Given the description of an element on the screen output the (x, y) to click on. 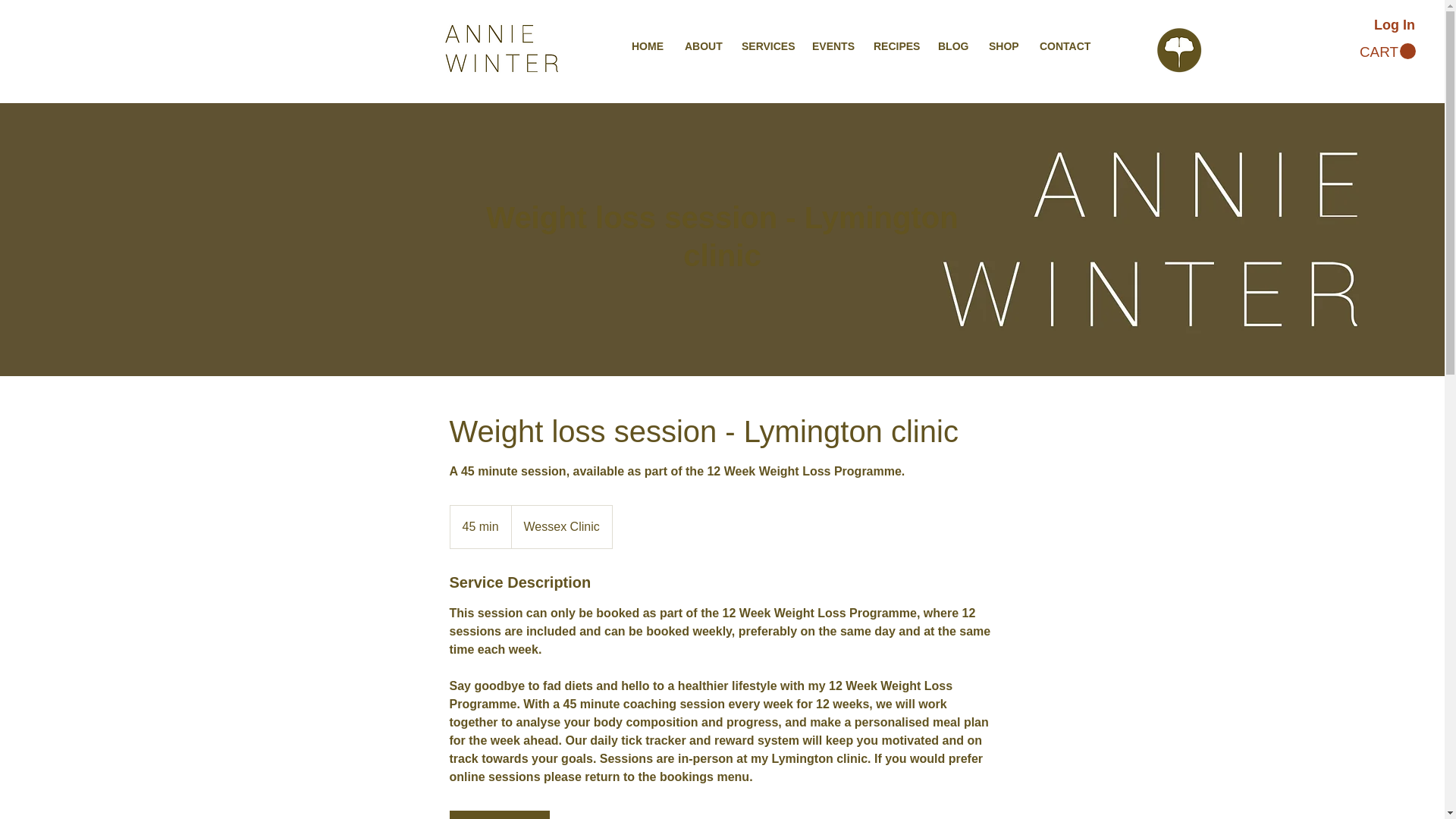
CART (1387, 51)
CART (1387, 51)
SERVICES (765, 46)
EVENTS (830, 46)
BLOG (951, 46)
Log In (1393, 25)
Book Now (498, 814)
HOME (646, 46)
RECIPES (893, 46)
